Given the description of an element on the screen output the (x, y) to click on. 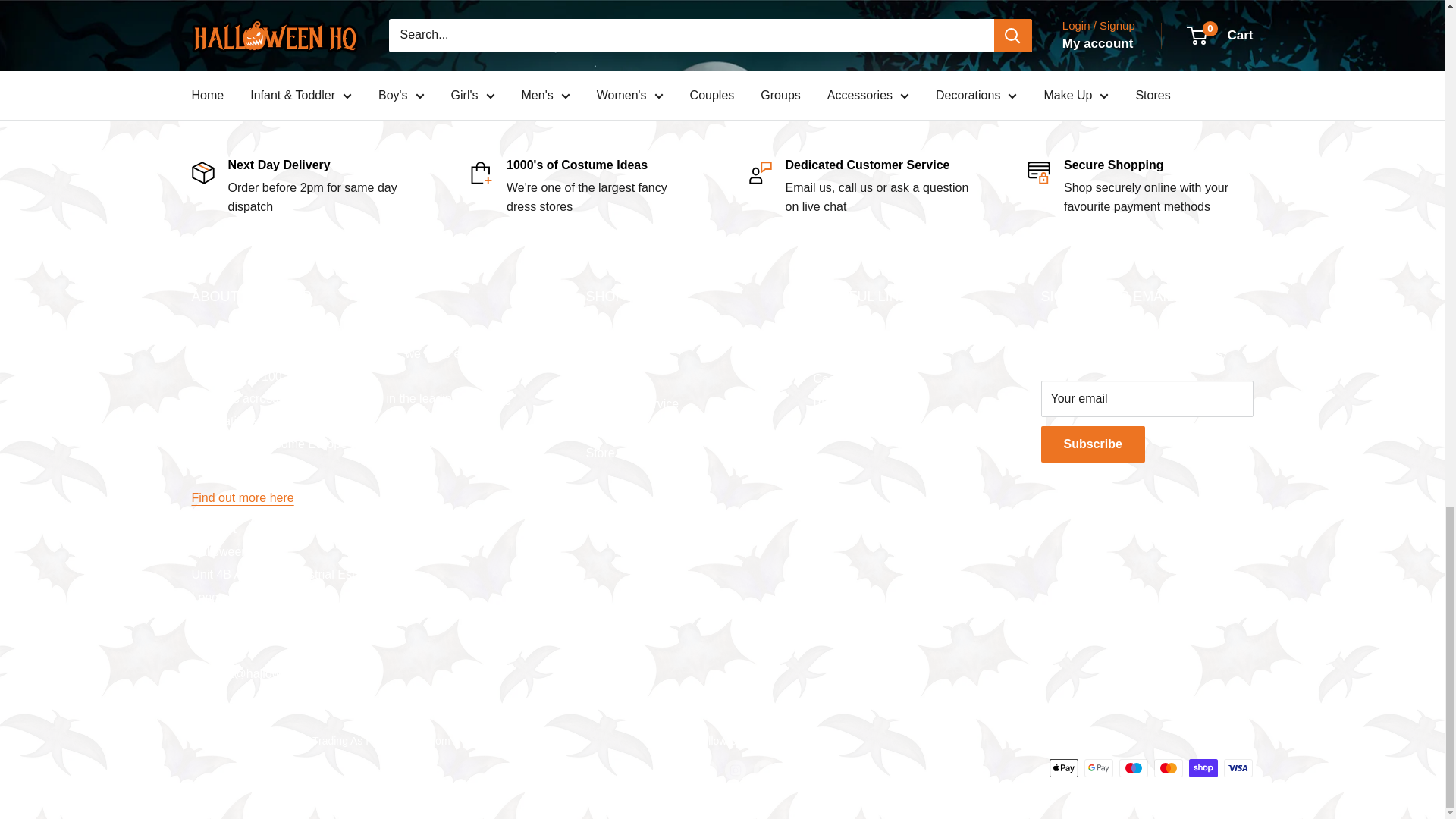
About us (242, 497)
